Given the description of an element on the screen output the (x, y) to click on. 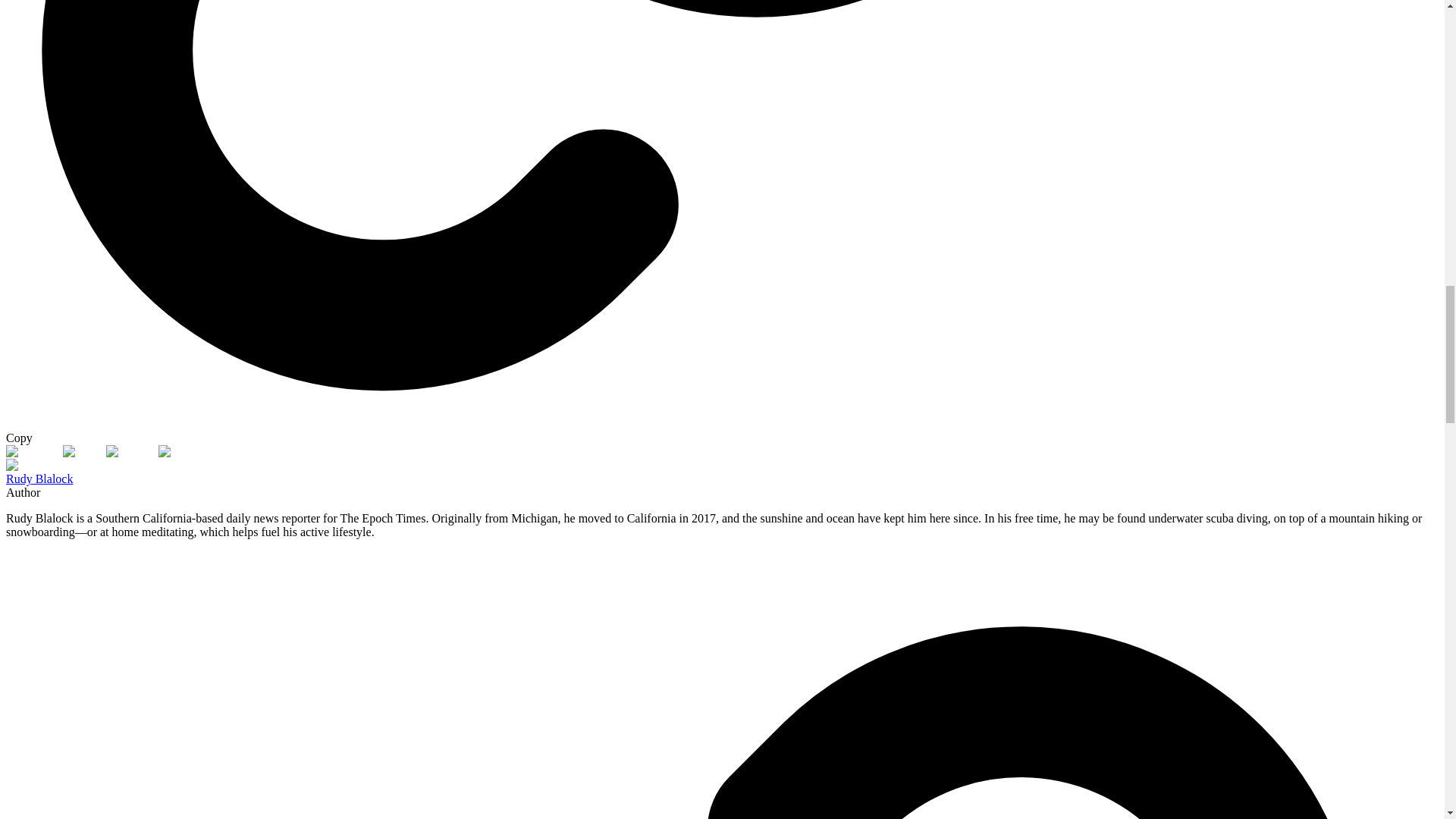
Rudy Blalock (38, 478)
